Given the description of an element on the screen output the (x, y) to click on. 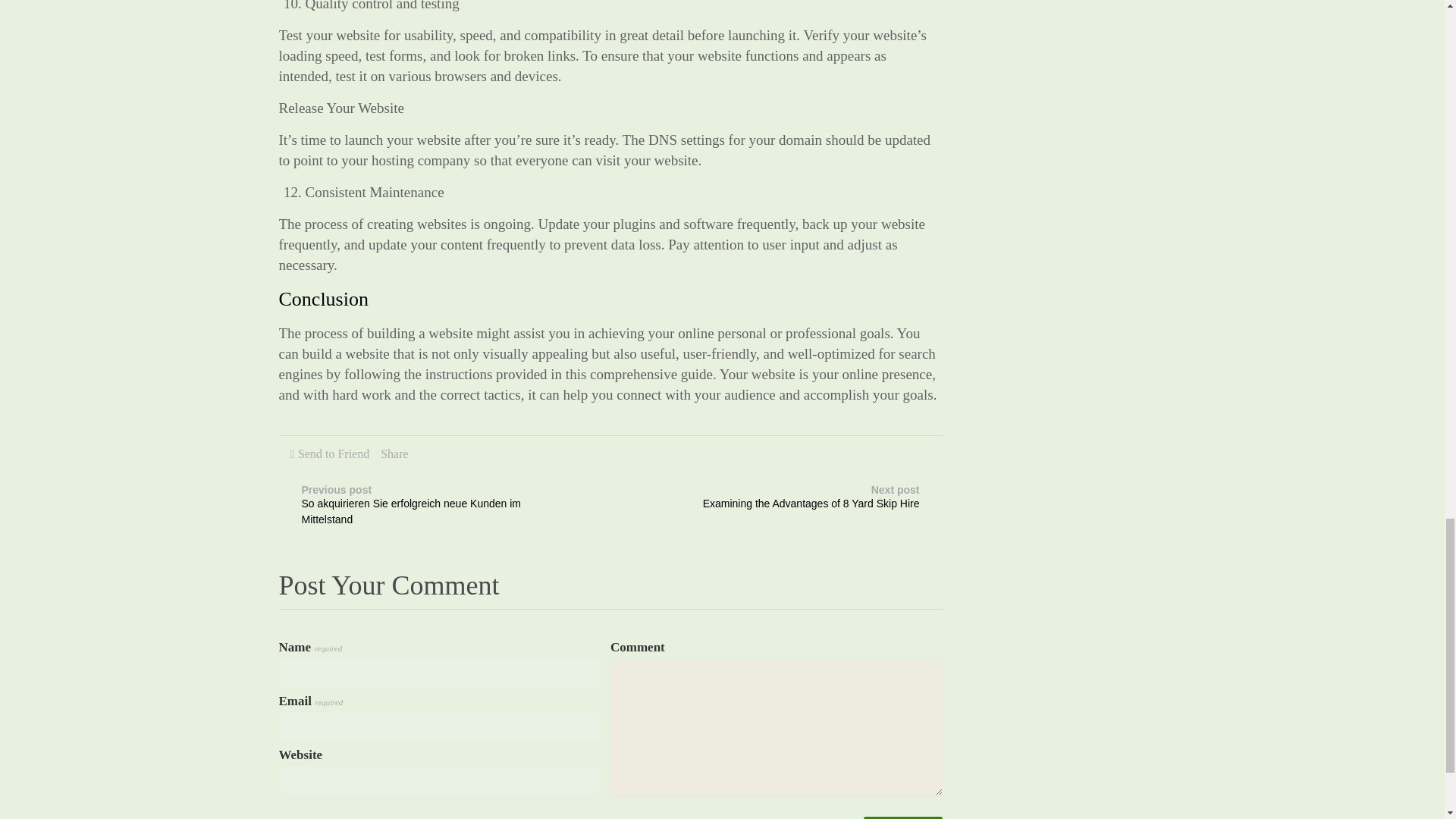
Submit (797, 499)
Send to Friend (902, 817)
Submit (333, 453)
Share (902, 817)
